Given the description of an element on the screen output the (x, y) to click on. 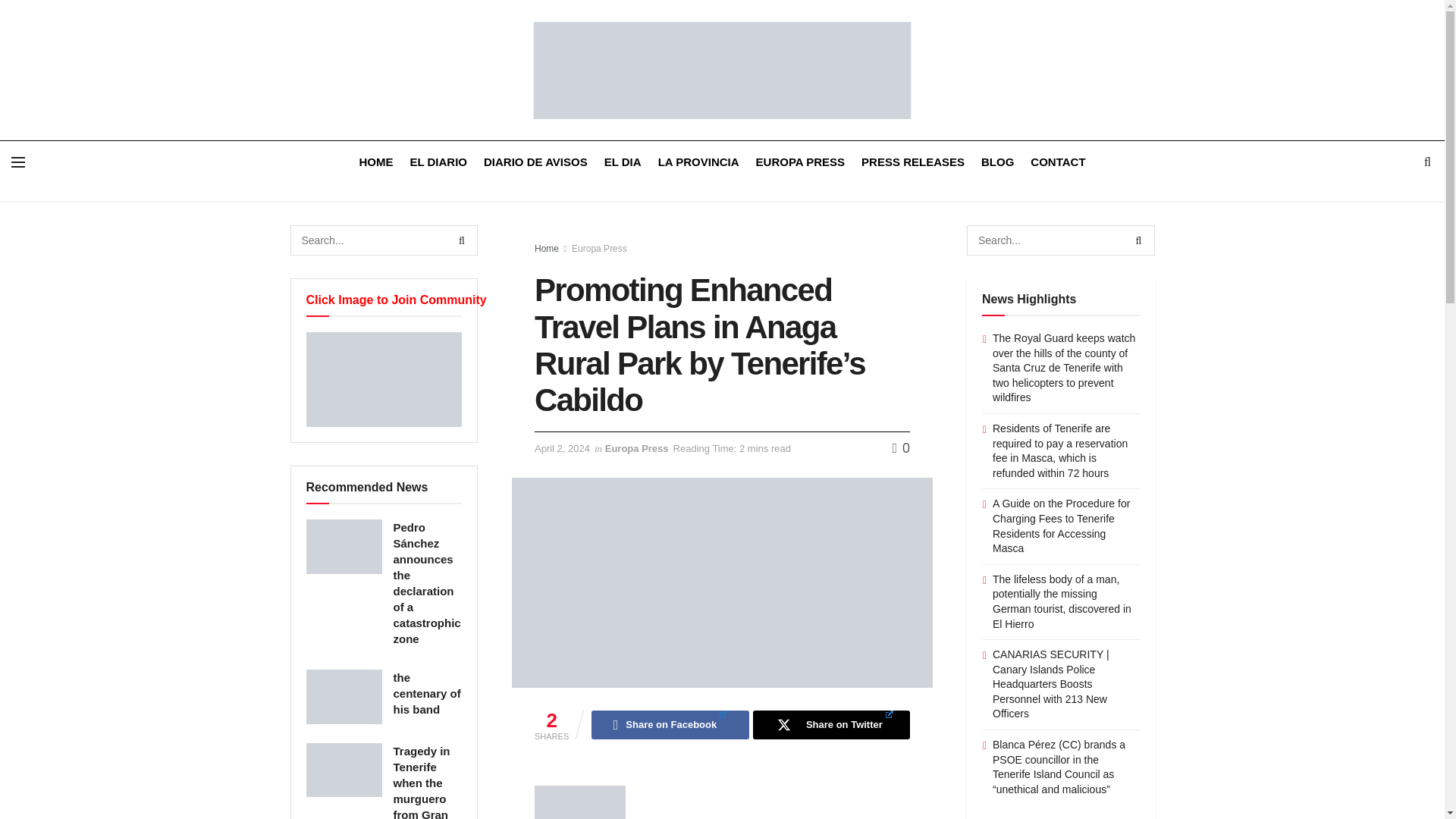
Share on Twitter (831, 724)
EL DIA (623, 161)
CONTACT (1057, 161)
Europa Press (636, 448)
HOME (375, 161)
BLOG (997, 161)
LA PROVINCIA (698, 161)
EL DIARIO (438, 161)
0 (900, 447)
EUROPA PRESS (800, 161)
April 2, 2024 (561, 448)
DIARIO DE AVISOS (535, 161)
Home (546, 248)
Europa Press (599, 248)
PRESS RELEASES (912, 161)
